Given the description of an element on the screen output the (x, y) to click on. 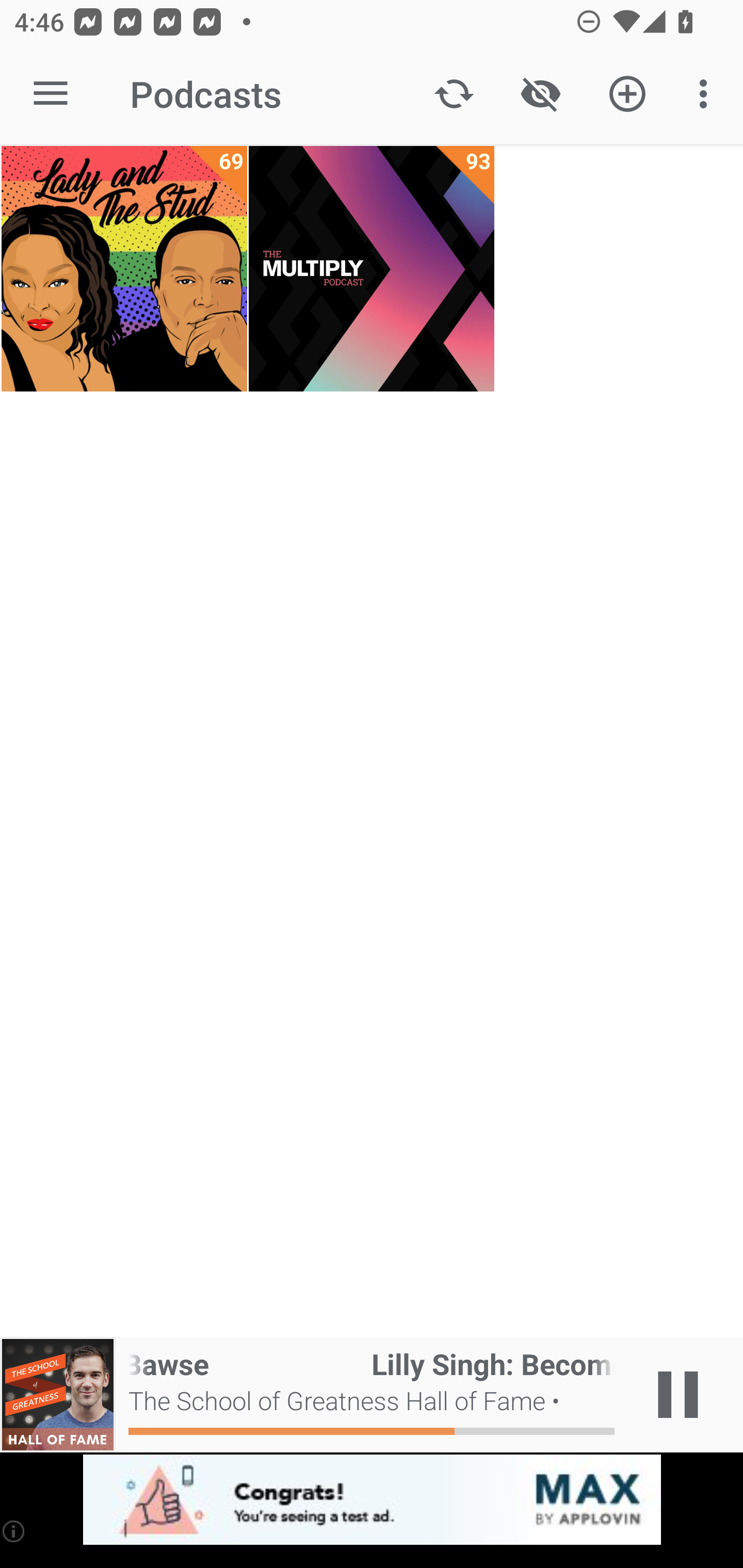
Open navigation sidebar (50, 93)
Update (453, 93)
Show / Hide played content (540, 93)
Add new Podcast (626, 93)
More options (706, 93)
Lady and The Stud 69 (124, 268)
The Multiply Podcast 93 (371, 268)
Play / Pause (677, 1394)
app-monetization (371, 1500)
(i) (14, 1531)
